Given the description of an element on the screen output the (x, y) to click on. 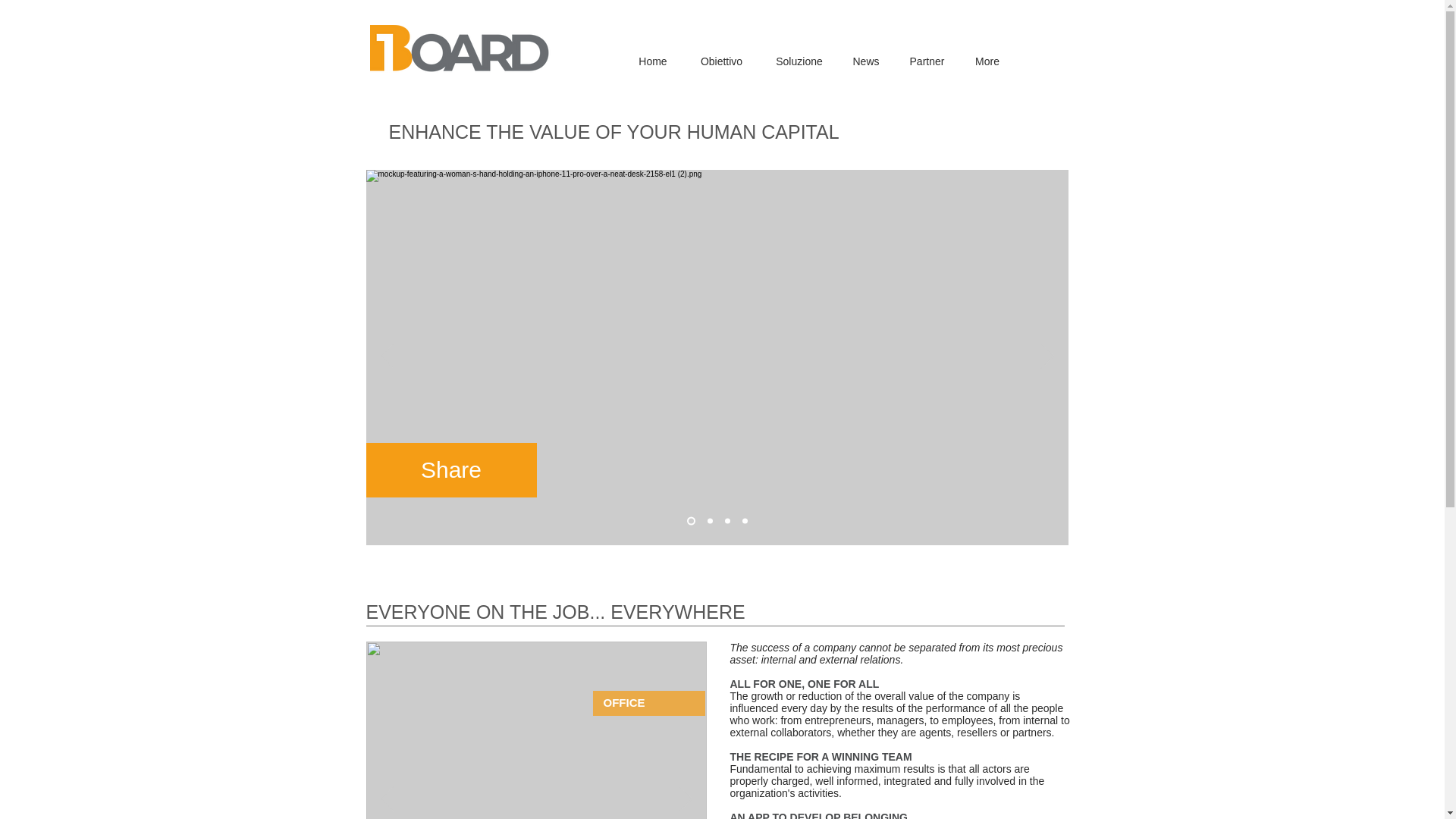
Partner (926, 60)
Share (450, 470)
News (865, 60)
Obiettivo (721, 60)
Soluzione (799, 60)
Home (652, 60)
